Given the description of an element on the screen output the (x, y) to click on. 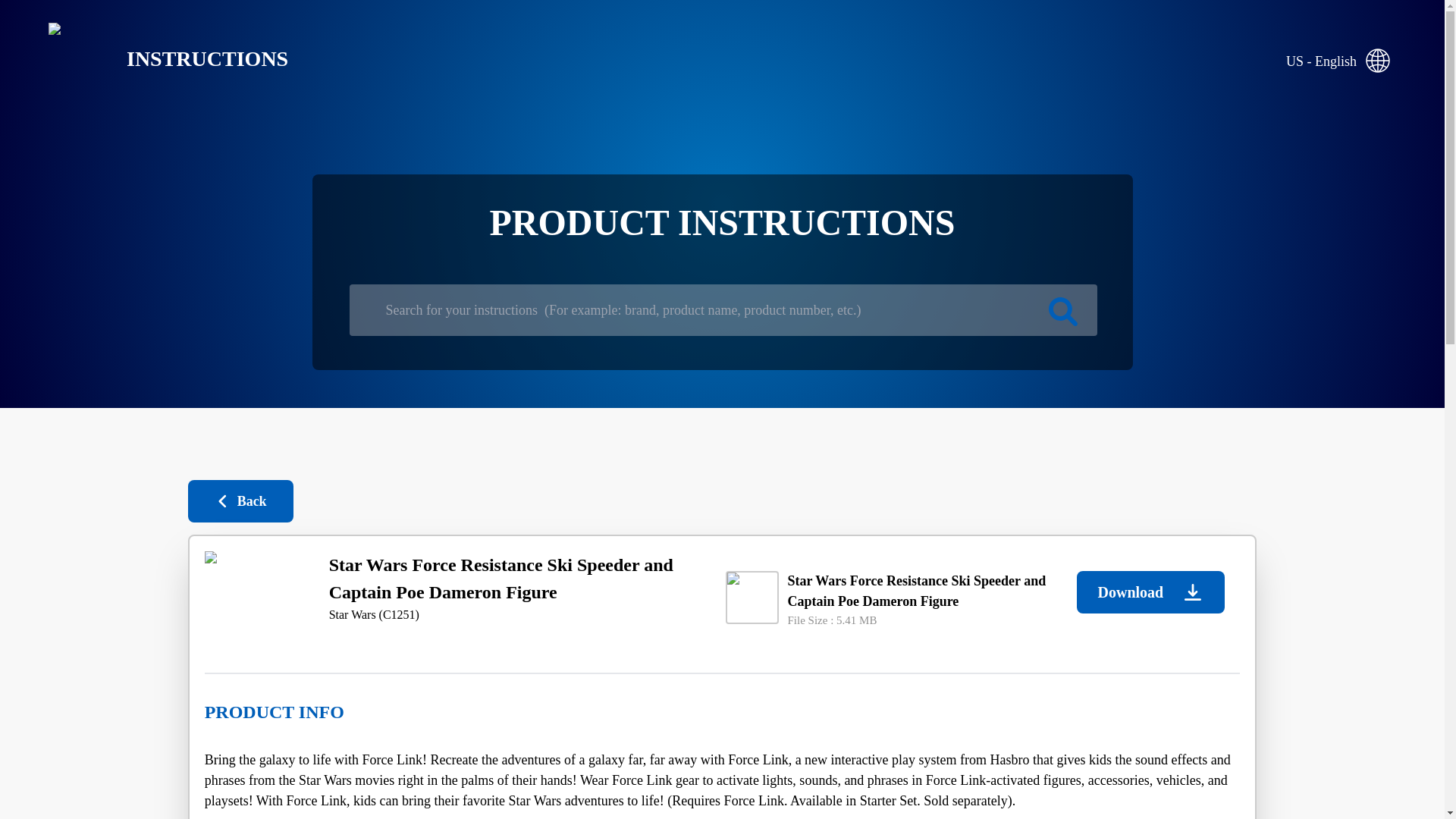
INSTRUCTIONS (156, 59)
Download (1150, 591)
Back (240, 500)
